Given the description of an element on the screen output the (x, y) to click on. 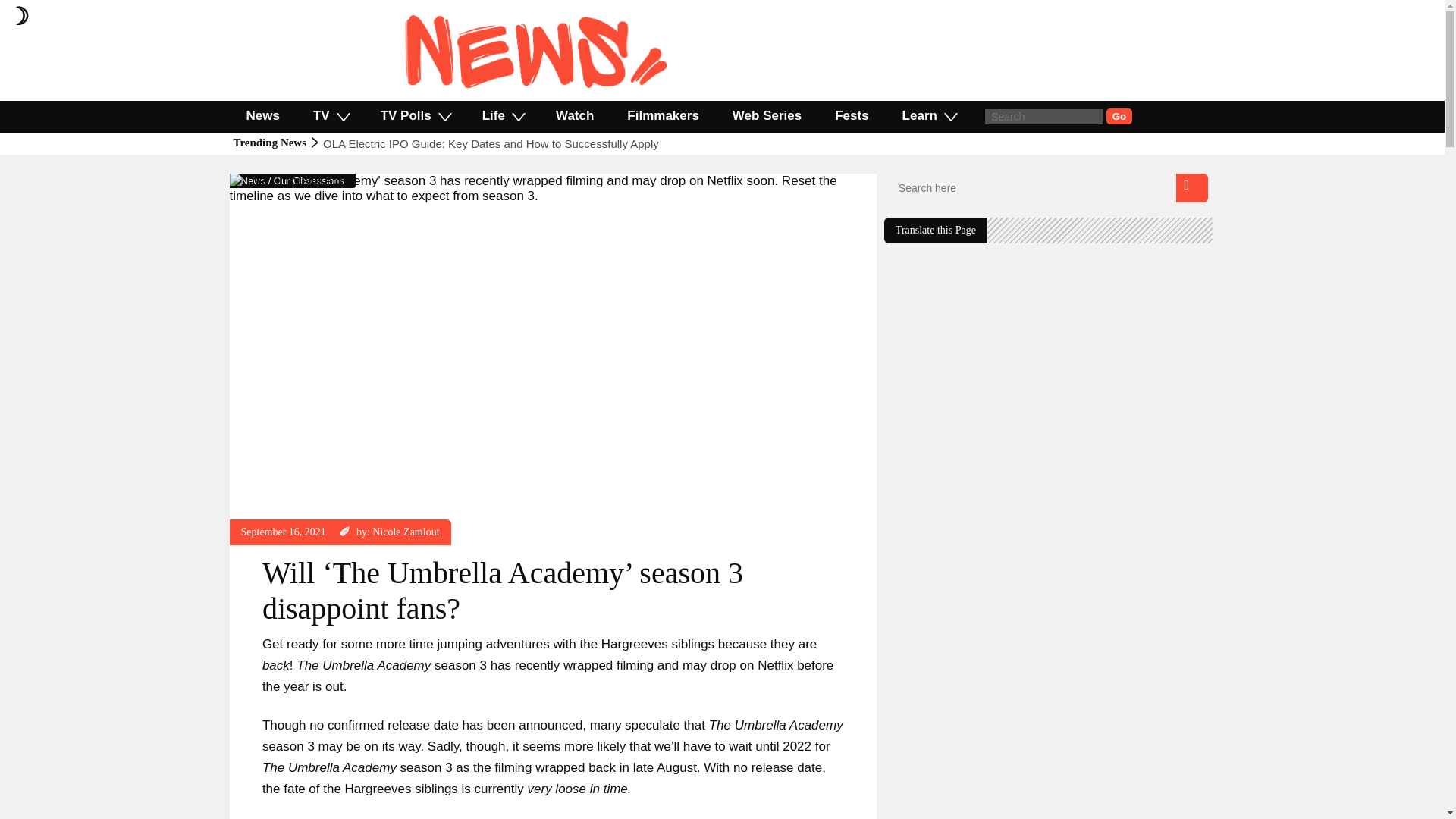
Watch (574, 115)
Life (501, 115)
Go (1119, 116)
Go (1119, 116)
Learn (928, 115)
TV Polls (414, 115)
Web Series (767, 115)
Fests (851, 115)
News (261, 115)
Our Obsessions (308, 180)
